Given the description of an element on the screen output the (x, y) to click on. 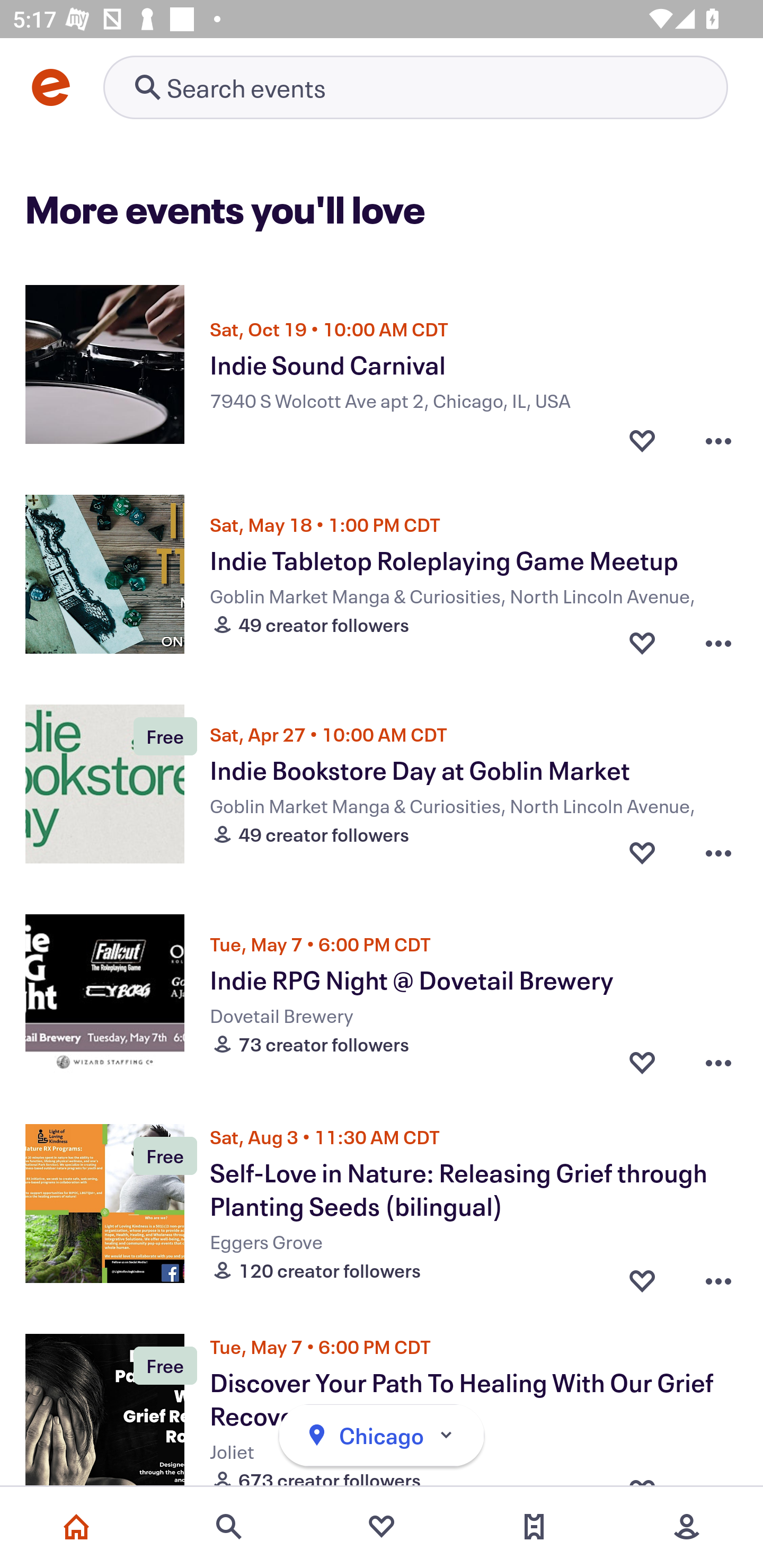
Retry's image Search events (415, 86)
Favorite button (642, 435)
Overflow menu button (718, 435)
Favorite button (642, 641)
Overflow menu button (718, 641)
Favorite button (642, 852)
Overflow menu button (718, 852)
Favorite button (642, 1062)
Overflow menu button (718, 1062)
Favorite button (642, 1275)
Overflow menu button (718, 1275)
Chicago (381, 1435)
Home (76, 1526)
Search events (228, 1526)
Favorites (381, 1526)
Tickets (533, 1526)
More (686, 1526)
